Given the description of an element on the screen output the (x, y) to click on. 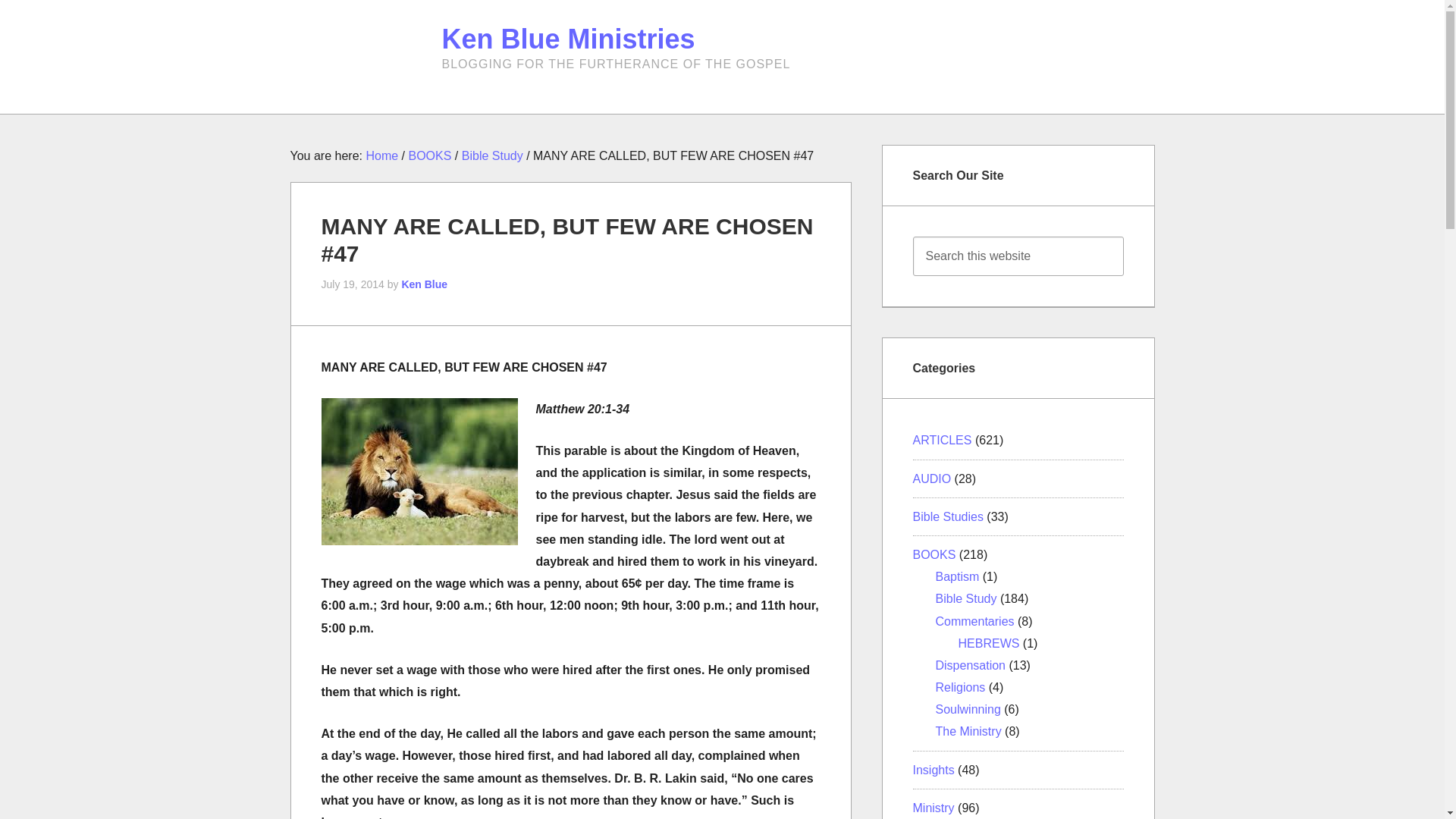
AUDIO (932, 478)
Dispensation (971, 665)
Home (381, 155)
Commentaries (975, 620)
HEBREWS (989, 643)
Insights (933, 769)
The Ministry (968, 730)
Ken Blue (423, 284)
